Given the description of an element on the screen output the (x, y) to click on. 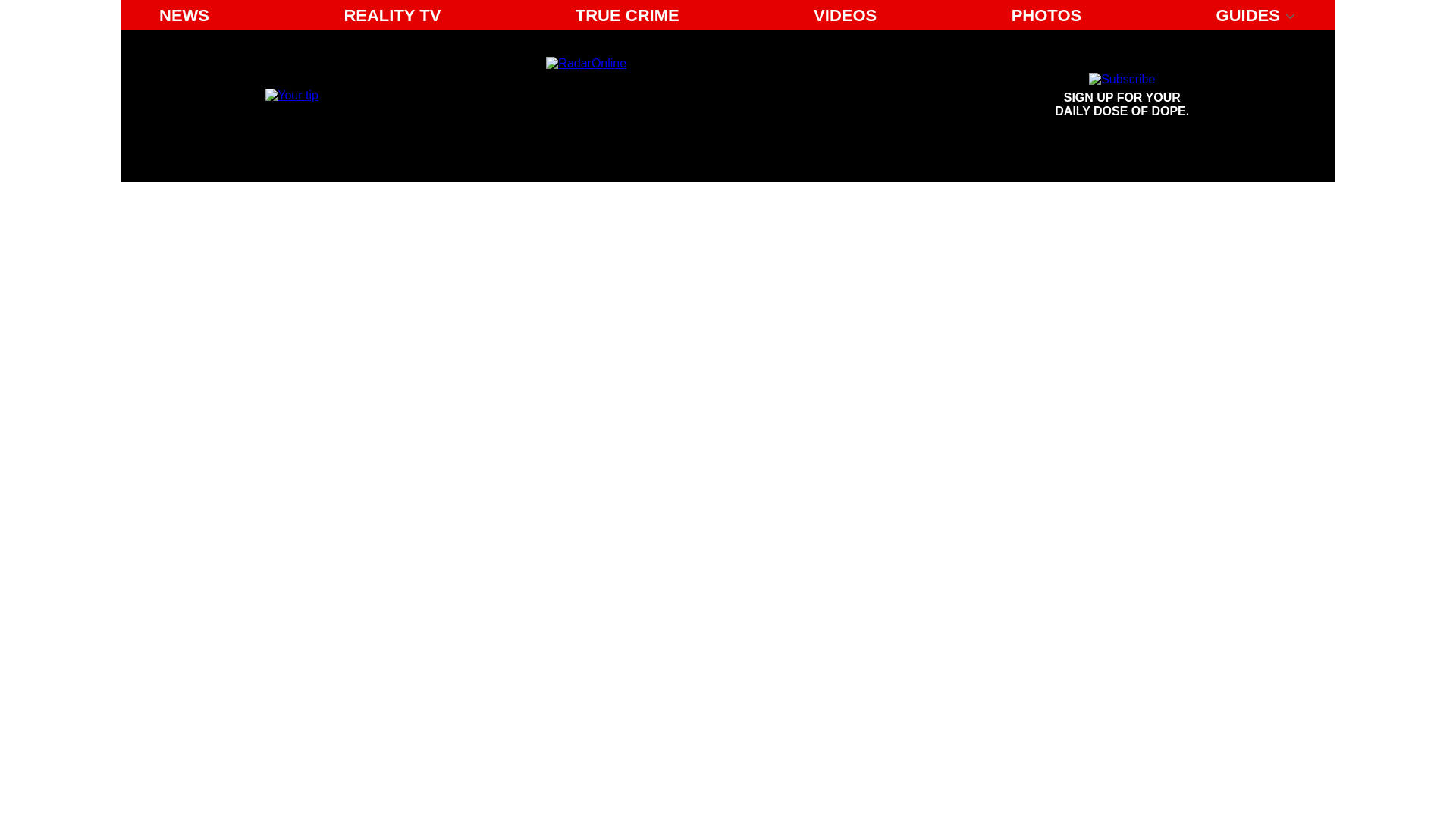
Email us your tip (291, 94)
Sign up for your daily dose of dope. (1122, 94)
NEWS (183, 15)
VIDEOS (844, 15)
Radar Online (1122, 94)
PHOTOS (685, 95)
REALITY TV (1046, 15)
TRUE CRIME (392, 15)
